Given the description of an element on the screen output the (x, y) to click on. 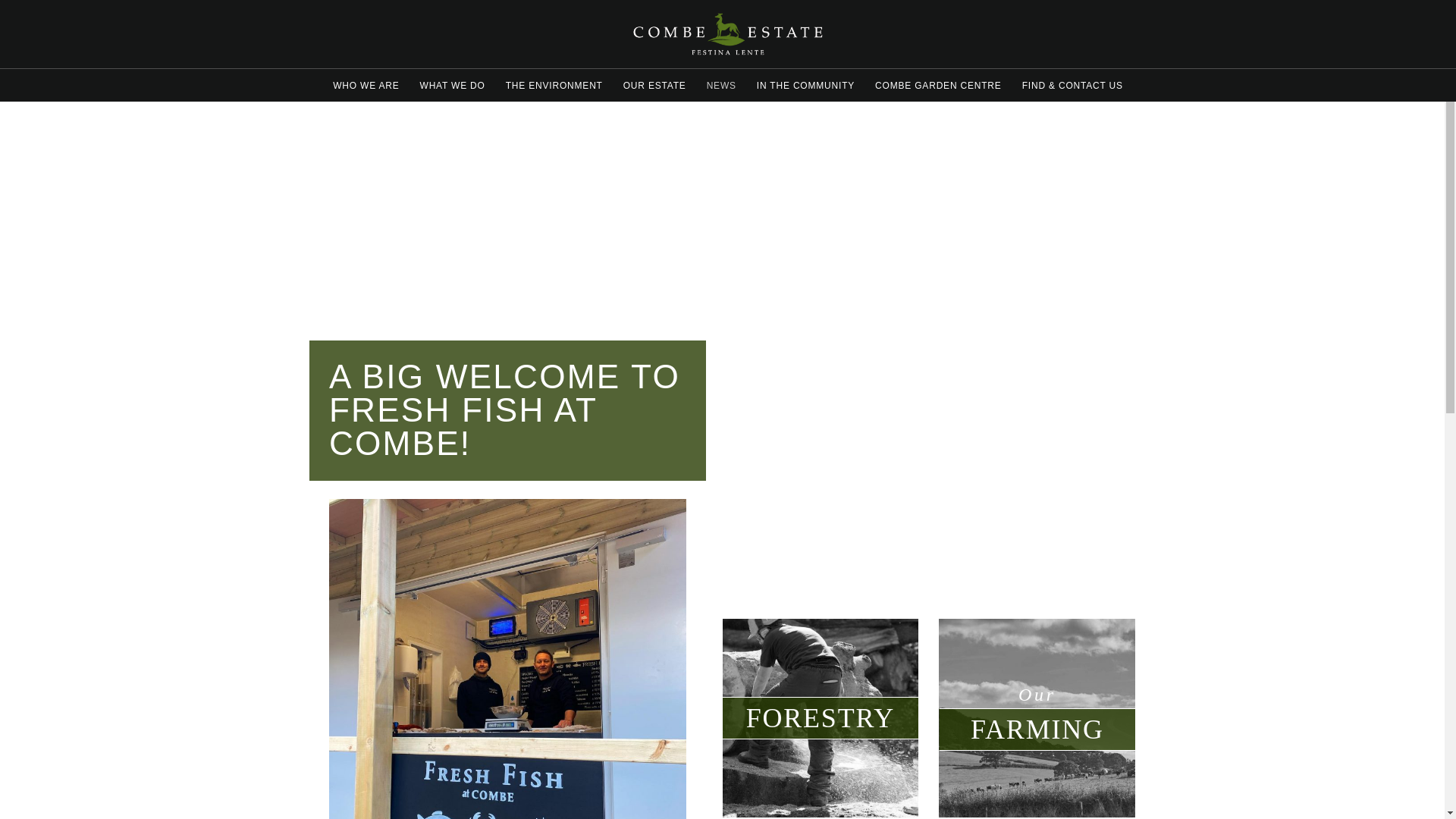
Find us (85, 611)
Residential (85, 299)
THE ENVIRONMENT (553, 86)
Our estate (85, 439)
IN THE COMMUNITY (805, 86)
NEWS (721, 86)
WHO WE ARE (365, 86)
Get in touch (85, 646)
In the community (85, 508)
Firewood for sale (85, 369)
